Given the description of an element on the screen output the (x, y) to click on. 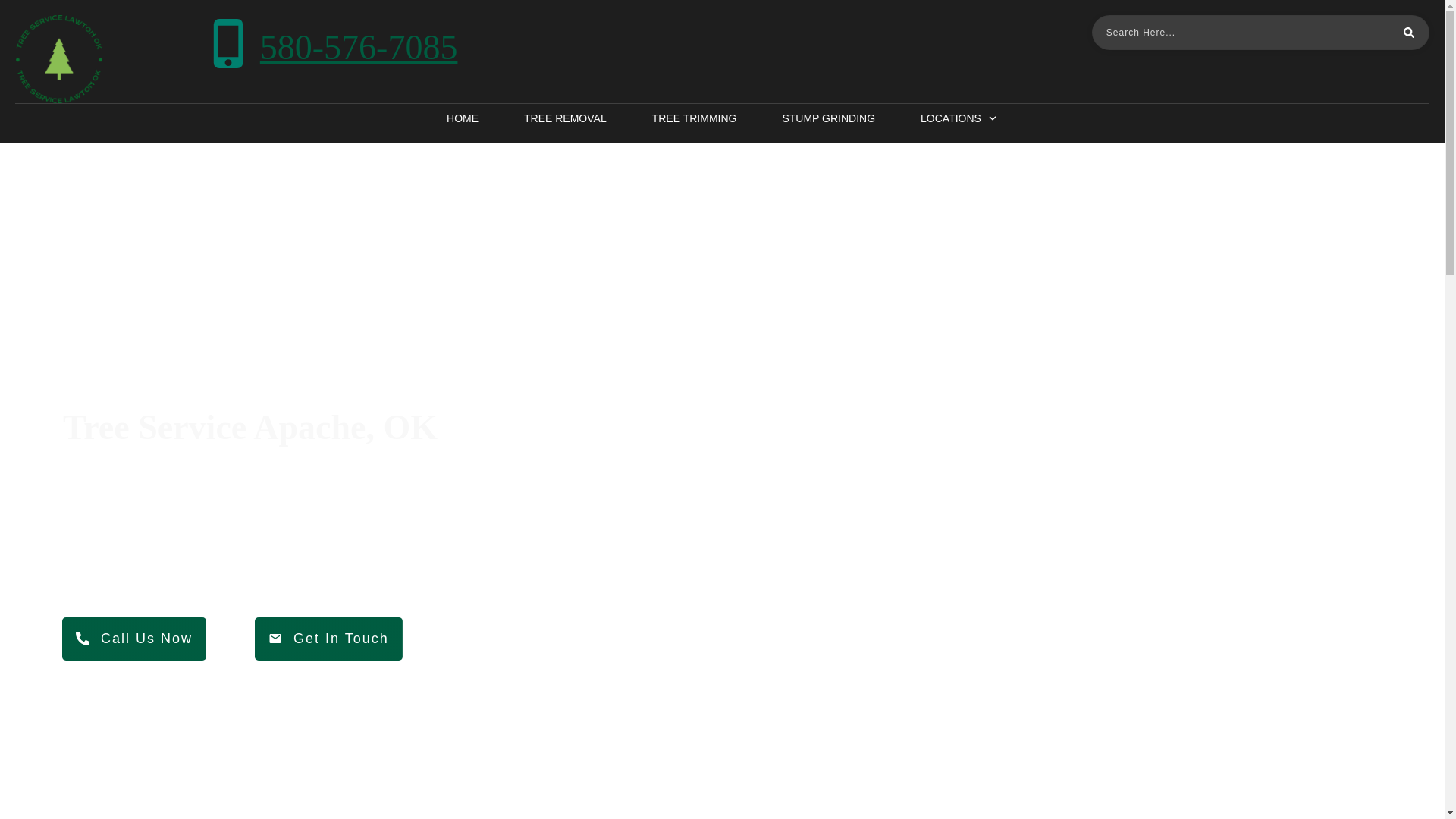
TREE REMOVAL (565, 117)
Call Us Now (134, 638)
STUMP GRINDING (828, 117)
TREE TRIMMING (694, 117)
580-576-7085 (359, 46)
LOCATIONS (958, 117)
HOME (462, 117)
Get In Touch (328, 638)
